Given the description of an element on the screen output the (x, y) to click on. 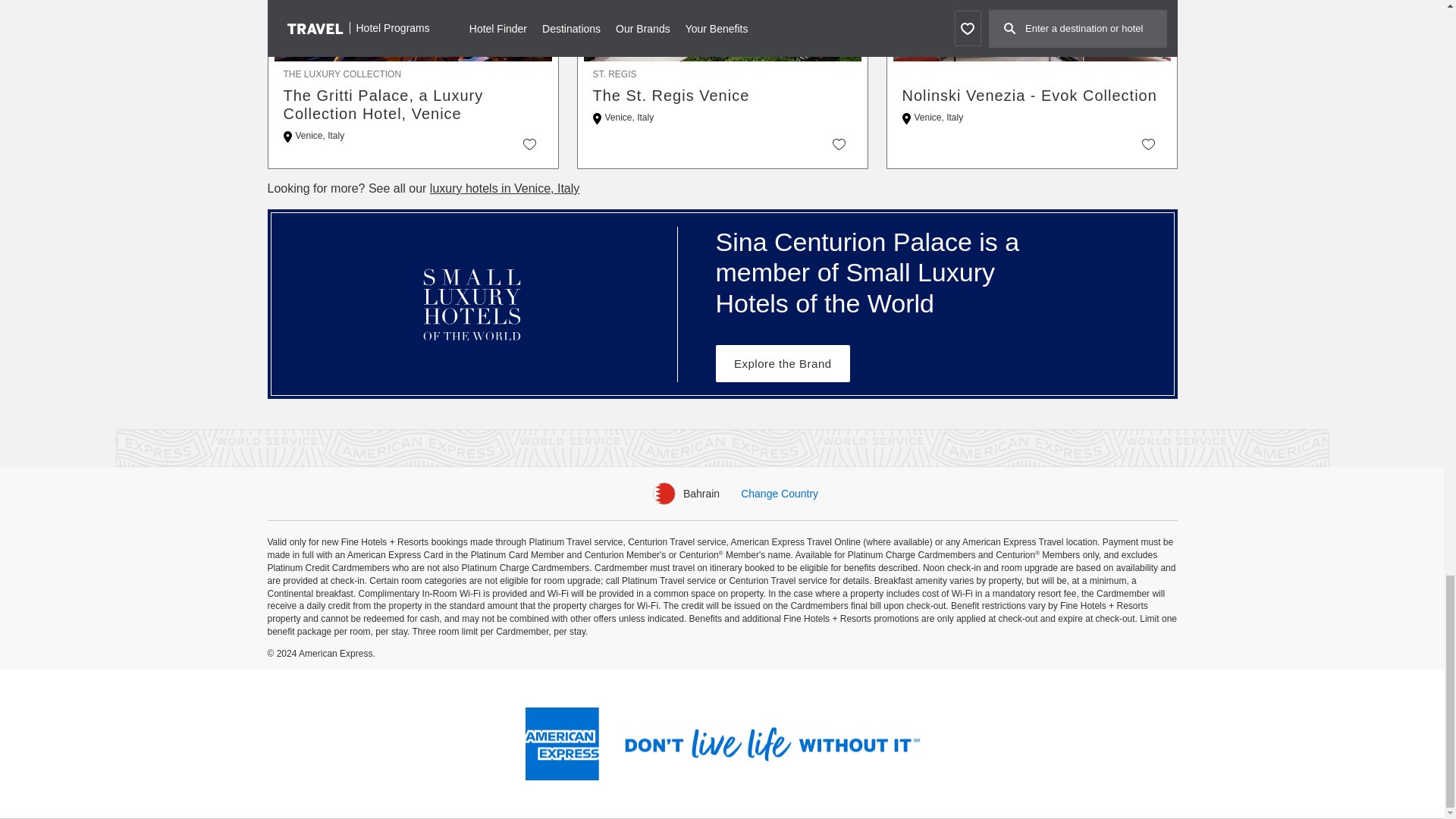
Nolinski Venezia - Evok Collection (1031, 95)
The St. Regis Venice (721, 95)
The Gritti Palace, a Luxury Collection Hotel, Venice (413, 104)
luxury hotels in Venice, Italy (504, 187)
Explore the Brand (783, 363)
Change Country (779, 493)
